Given the description of an element on the screen output the (x, y) to click on. 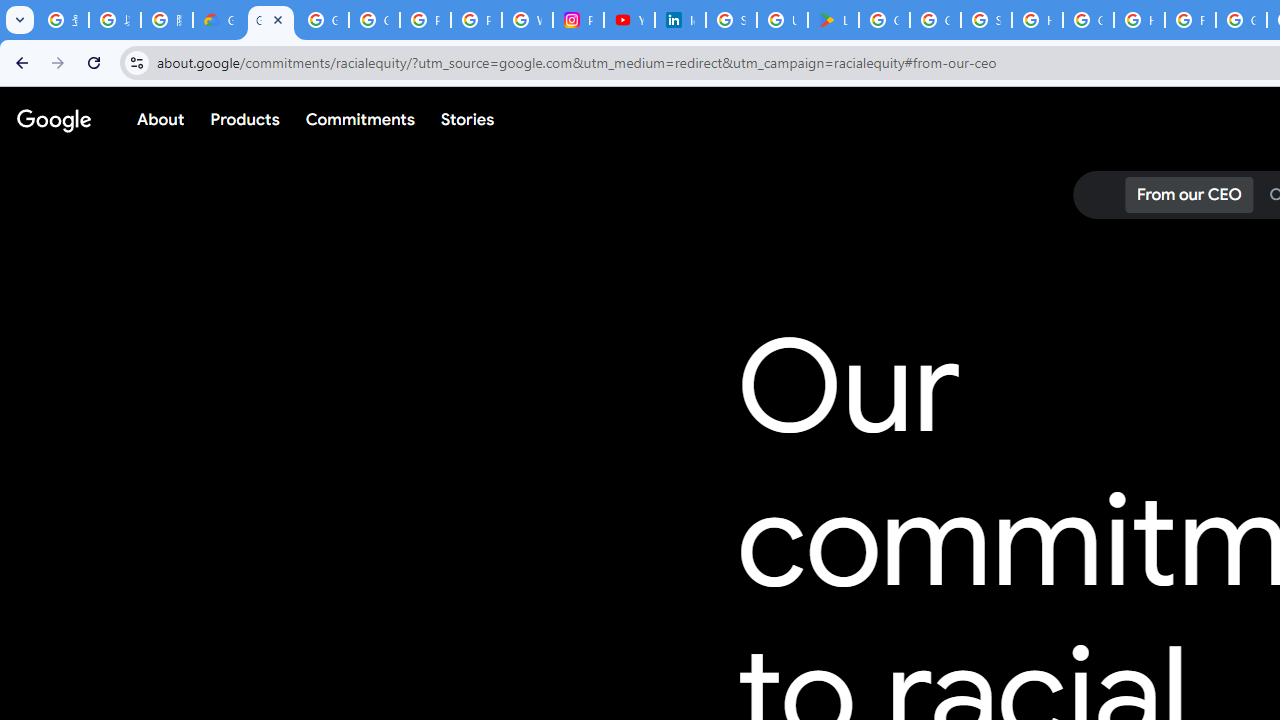
From our CEO: Jump to page section (1188, 195)
About (161, 119)
Sign in - Google Accounts (731, 20)
How do I create a new Google Account? - Google Account Help (1138, 20)
